Given the description of an element on the screen output the (x, y) to click on. 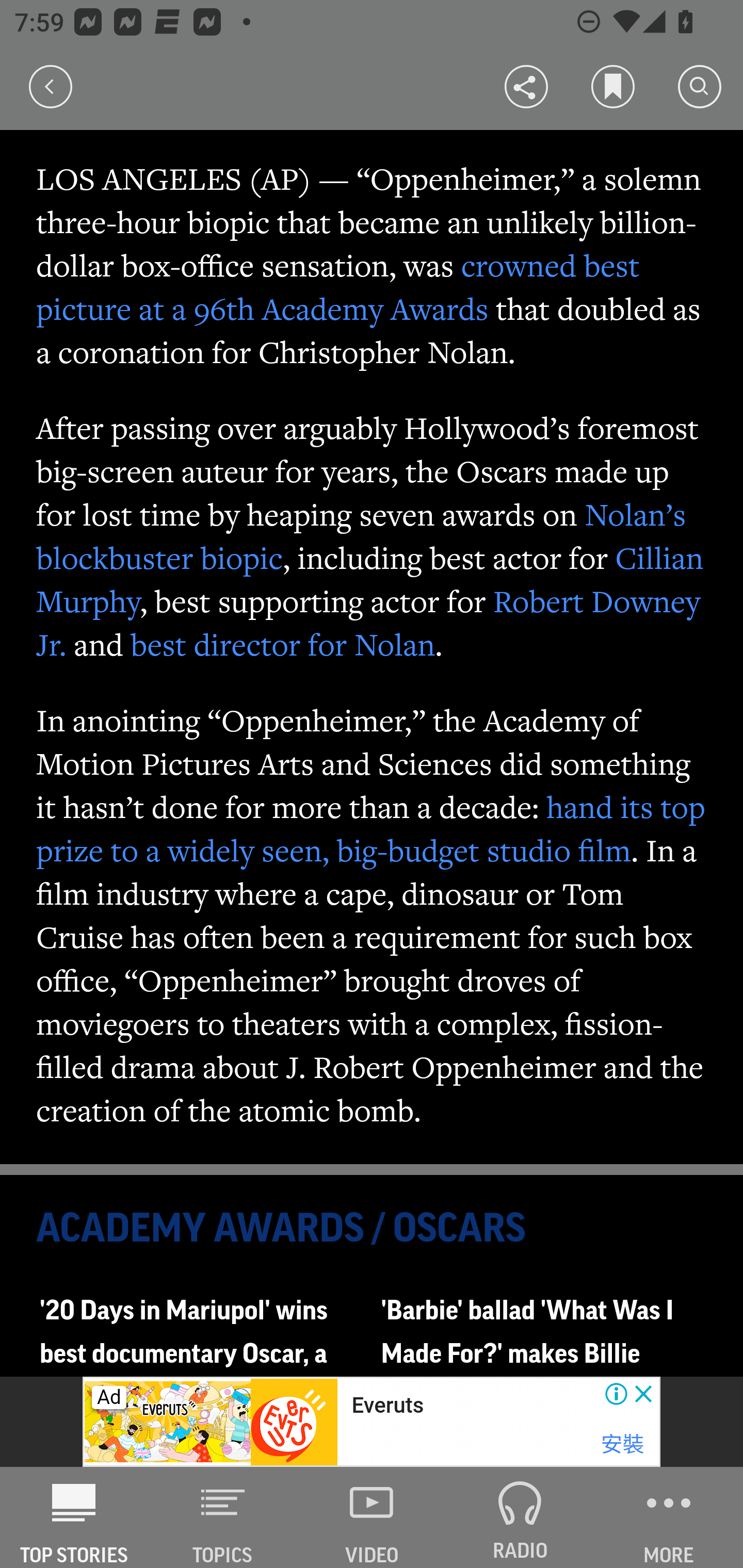
crowned best picture at a 96th Academy Awards (338, 287)
Nolan’s blockbuster biopic (362, 536)
Cillian Murphy (370, 579)
Robert Downey Jr. (369, 623)
best director for Nolan (283, 644)
ACADEMY AWARDS / OSCARS (372, 1228)
Everuts (387, 1405)
安裝 (621, 1444)
AP News TOP STORIES (74, 1517)
TOPICS (222, 1517)
VIDEO (371, 1517)
RADIO (519, 1517)
MORE (668, 1517)
